Given the description of an element on the screen output the (x, y) to click on. 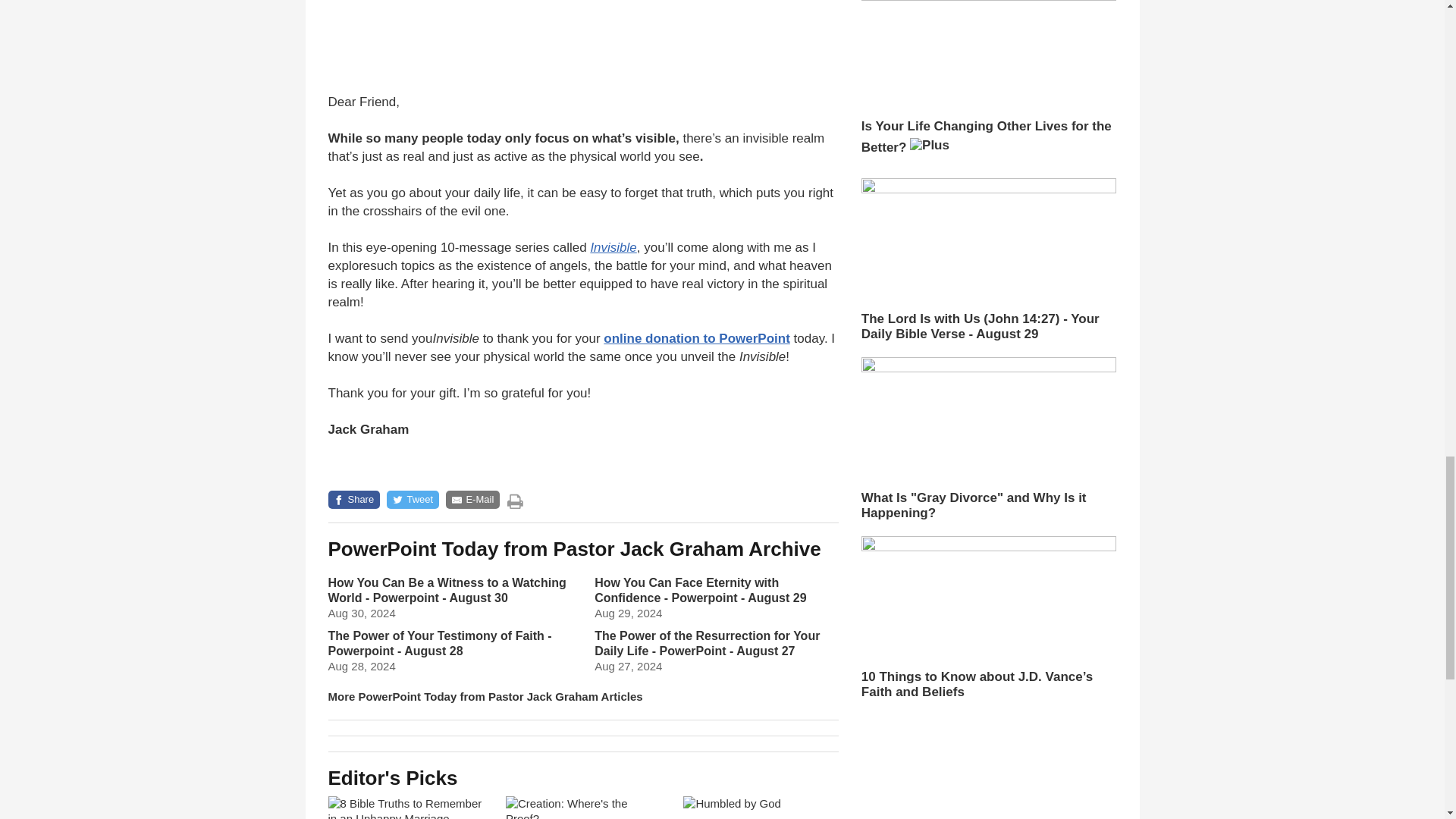
8 Bible Truths to Remember in an Unhappy Marriage (404, 807)
Creation: Where's the Proof? (583, 807)
Humbled by God (760, 807)
